Given the description of an element on the screen output the (x, y) to click on. 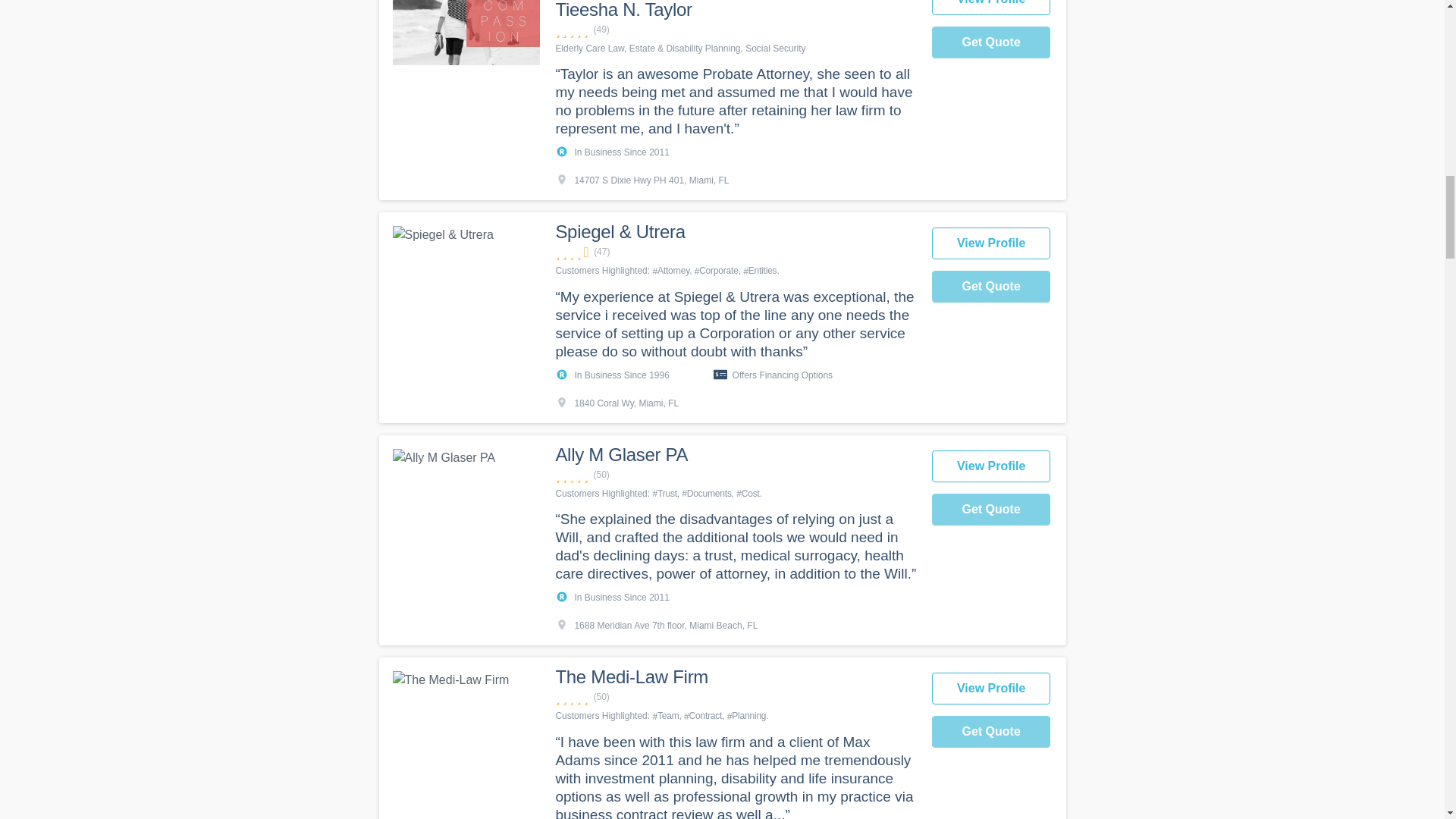
4.9 (734, 29)
4.6 (734, 251)
5.0 (734, 697)
5.0 (734, 474)
